Given the description of an element on the screen output the (x, y) to click on. 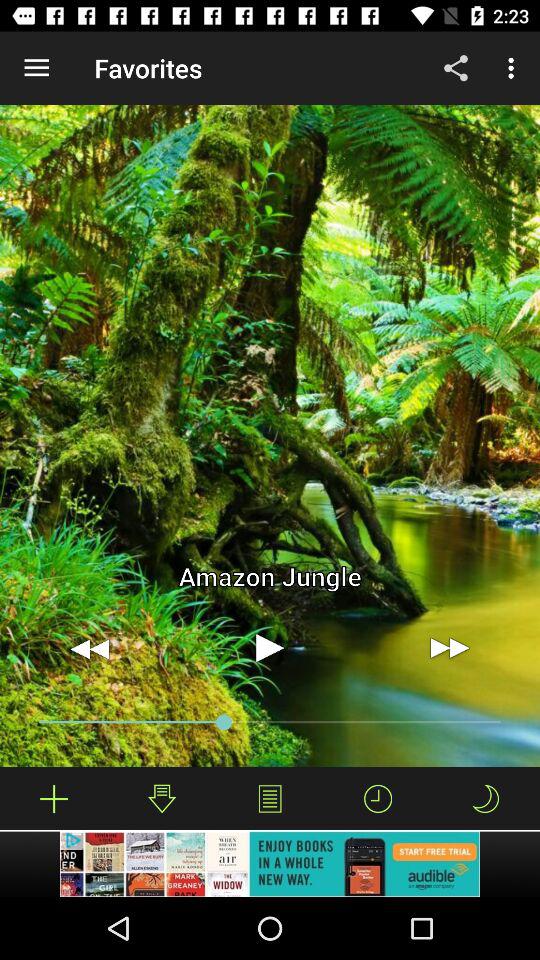
press item next to the favorites (455, 67)
